Given the description of an element on the screen output the (x, y) to click on. 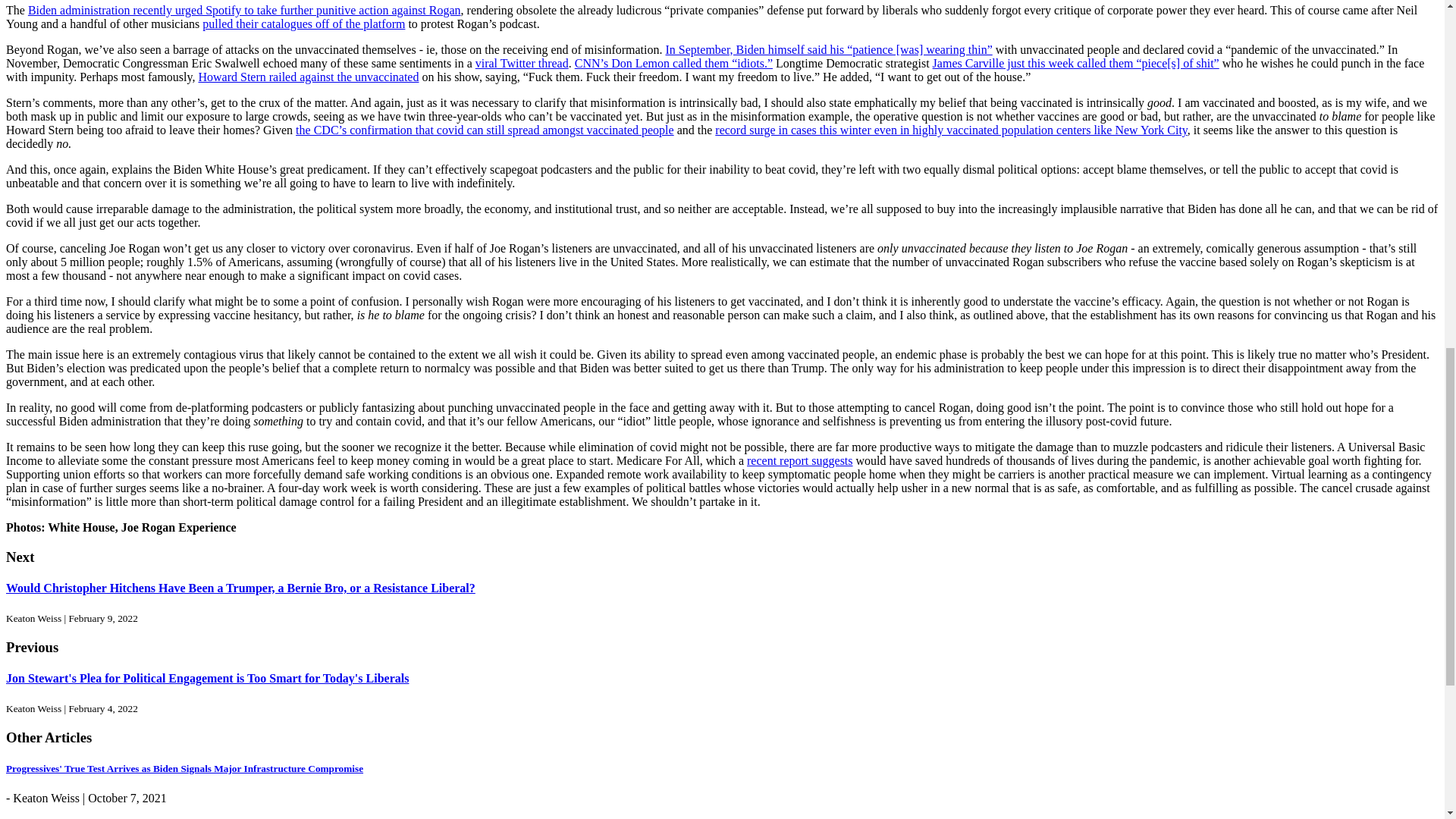
viral Twitter thread (522, 62)
recent report suggests (799, 460)
Howard Stern railed against the unvaccinated (308, 76)
pulled their catalogues off of the platform (303, 23)
